Given the description of an element on the screen output the (x, y) to click on. 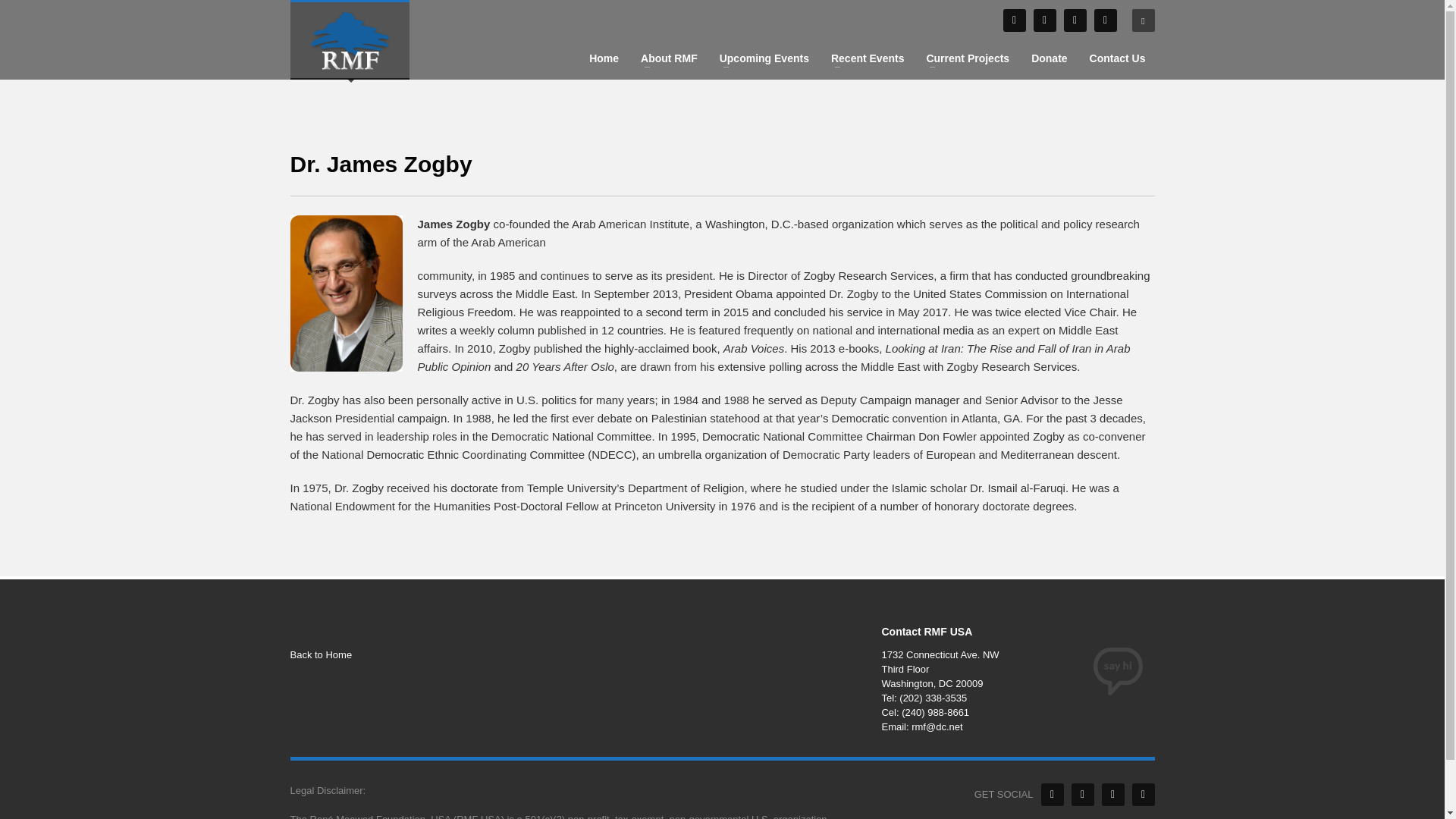
Back to Home (425, 655)
facebook (1014, 20)
Home (603, 57)
youtube (1074, 20)
Donate (1048, 57)
Contact Us (1117, 57)
Instagram (1112, 793)
Recent Events (867, 57)
Promoting Social and Rural Development (349, 39)
Facebook (1051, 793)
Upcoming Events (764, 57)
Twitter (1081, 793)
twitter (1043, 20)
Current Projects (967, 57)
Youtube (1142, 793)
